Given the description of an element on the screen output the (x, y) to click on. 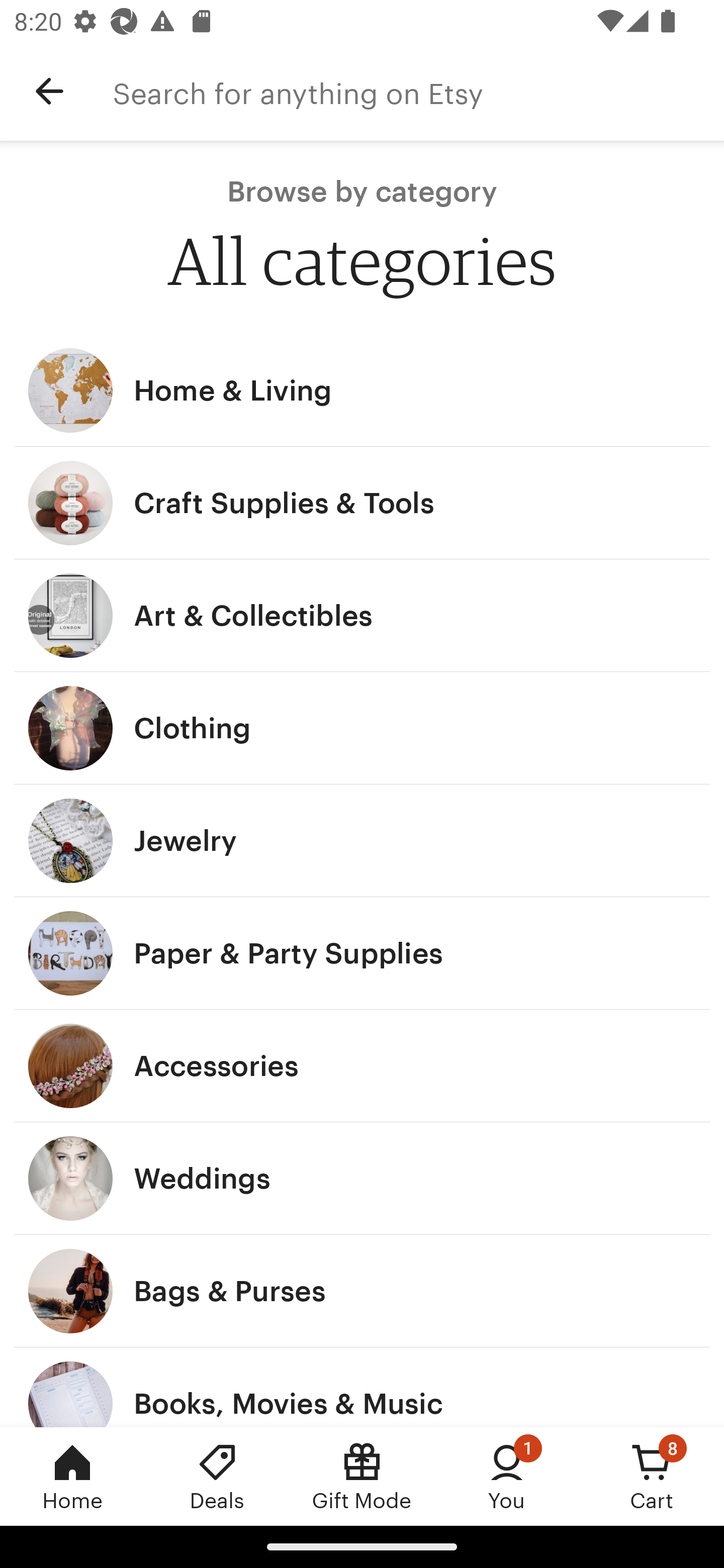
Navigate up (49, 91)
Search for anything on Etsy (418, 91)
Home & Living (361, 389)
Craft Supplies & Tools (361, 502)
Art & Collectibles (361, 615)
Clothing (361, 728)
Jewelry (361, 840)
Paper & Party Supplies (361, 952)
Accessories (361, 1065)
Weddings (361, 1178)
Bags & Purses (361, 1290)
Books, Movies & Music (361, 1386)
Deals (216, 1475)
Gift Mode (361, 1475)
You, 1 new notification You (506, 1475)
Cart, 8 new notifications Cart (651, 1475)
